Given the description of an element on the screen output the (x, y) to click on. 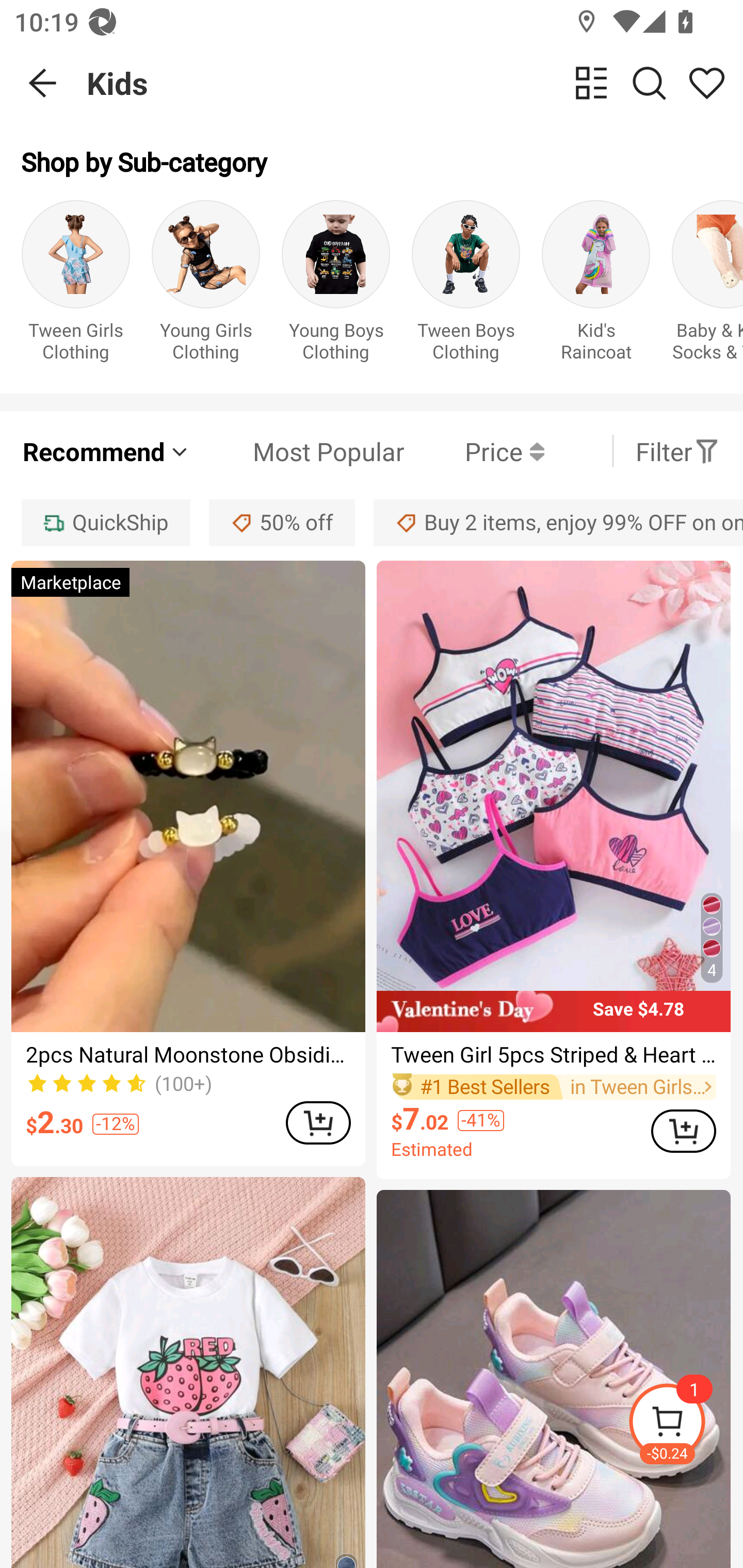
Kids change view Search Share (414, 82)
change view (591, 82)
Search (648, 82)
Share (706, 82)
Tween Girls Clothing (75, 285)
Young Girls Clothing (205, 285)
Young Boys Clothing (335, 285)
Tween Boys Clothing (465, 285)
Kid's Raincoat (595, 285)
Baby & Kids' Socks & Tights (707, 285)
Recommend (106, 450)
Most Popular (297, 450)
Price (474, 450)
Filter (677, 450)
QuickShip (105, 521)
50% off (281, 521)
Buy 2 items, enjoy 99% OFF on one of the items! (558, 521)
#1 Best Sellers in Tween Girls Underwear (553, 1086)
ADD TO CART (318, 1122)
ADD TO CART (683, 1131)
Kids' Simple, Comfortable, Breathable Sports Shoes (553, 1379)
-$0.24 (685, 1424)
